Given the description of an element on the screen output the (x, y) to click on. 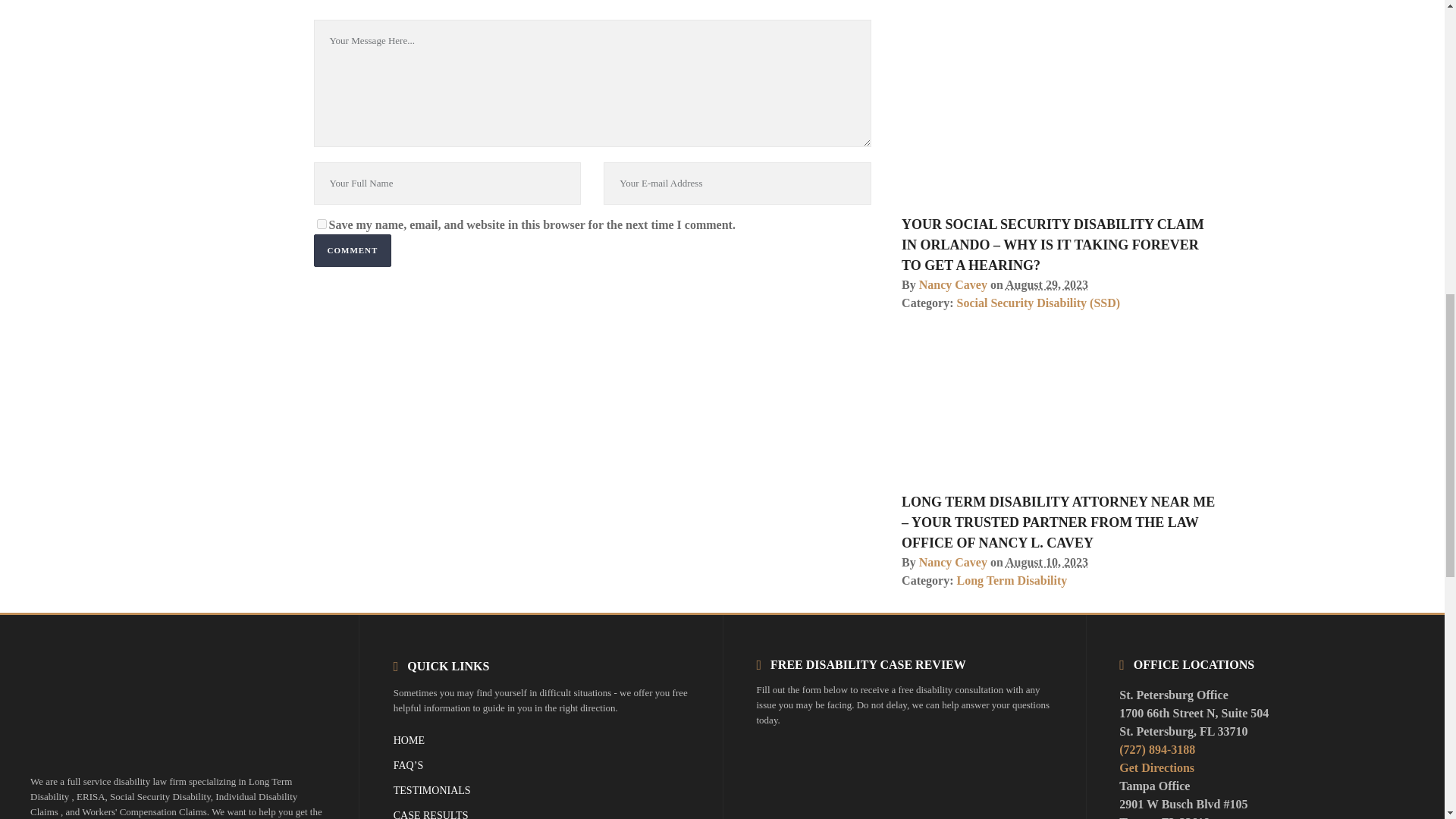
Thursday, August 10th, 2023, 10:04 am (1046, 562)
Nancy Cavey (952, 284)
yes (321, 223)
Comment (352, 249)
Nancy Cavey (952, 562)
Tuesday, August 29th, 2023, 7:55 am (1046, 284)
Contact Us Form (904, 773)
